Given the description of an element on the screen output the (x, y) to click on. 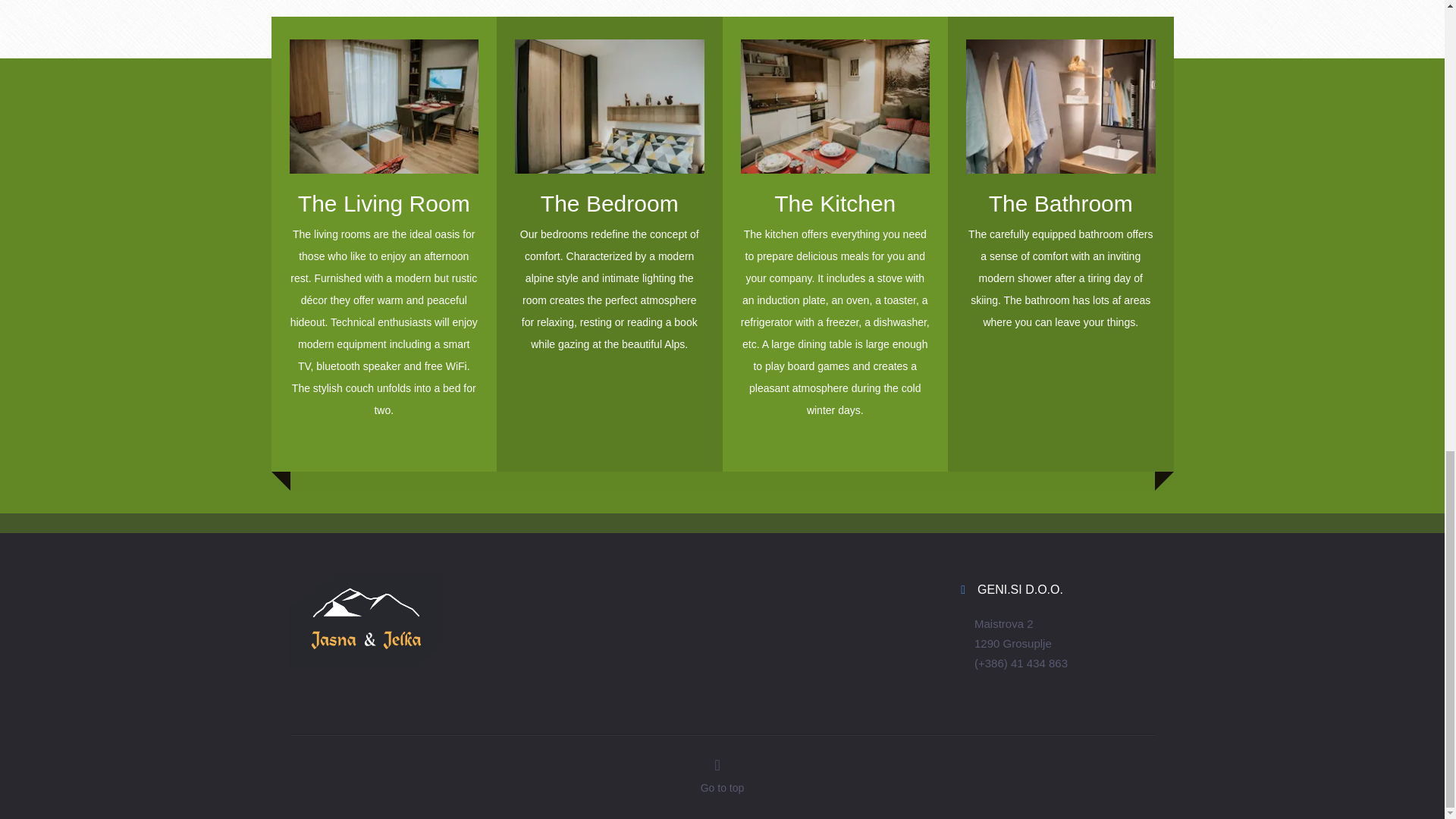
The Bathroom (1061, 231)
The Kitchen (834, 231)
The Living Room (384, 231)
The Bedroom (609, 231)
Go to top (722, 788)
